Given the description of an element on the screen output the (x, y) to click on. 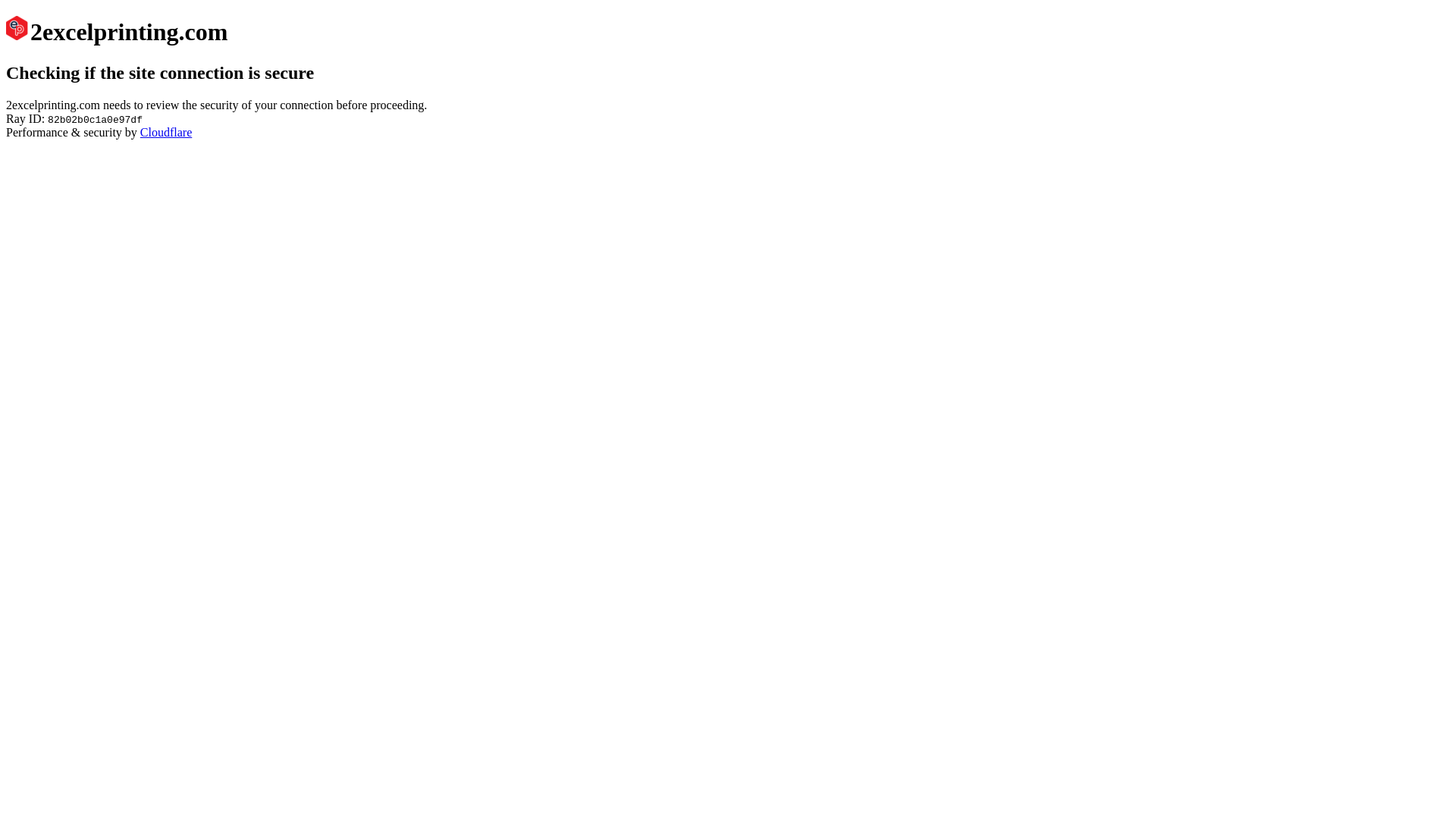
Cloudflare Element type: text (165, 131)
